Given the description of an element on the screen output the (x, y) to click on. 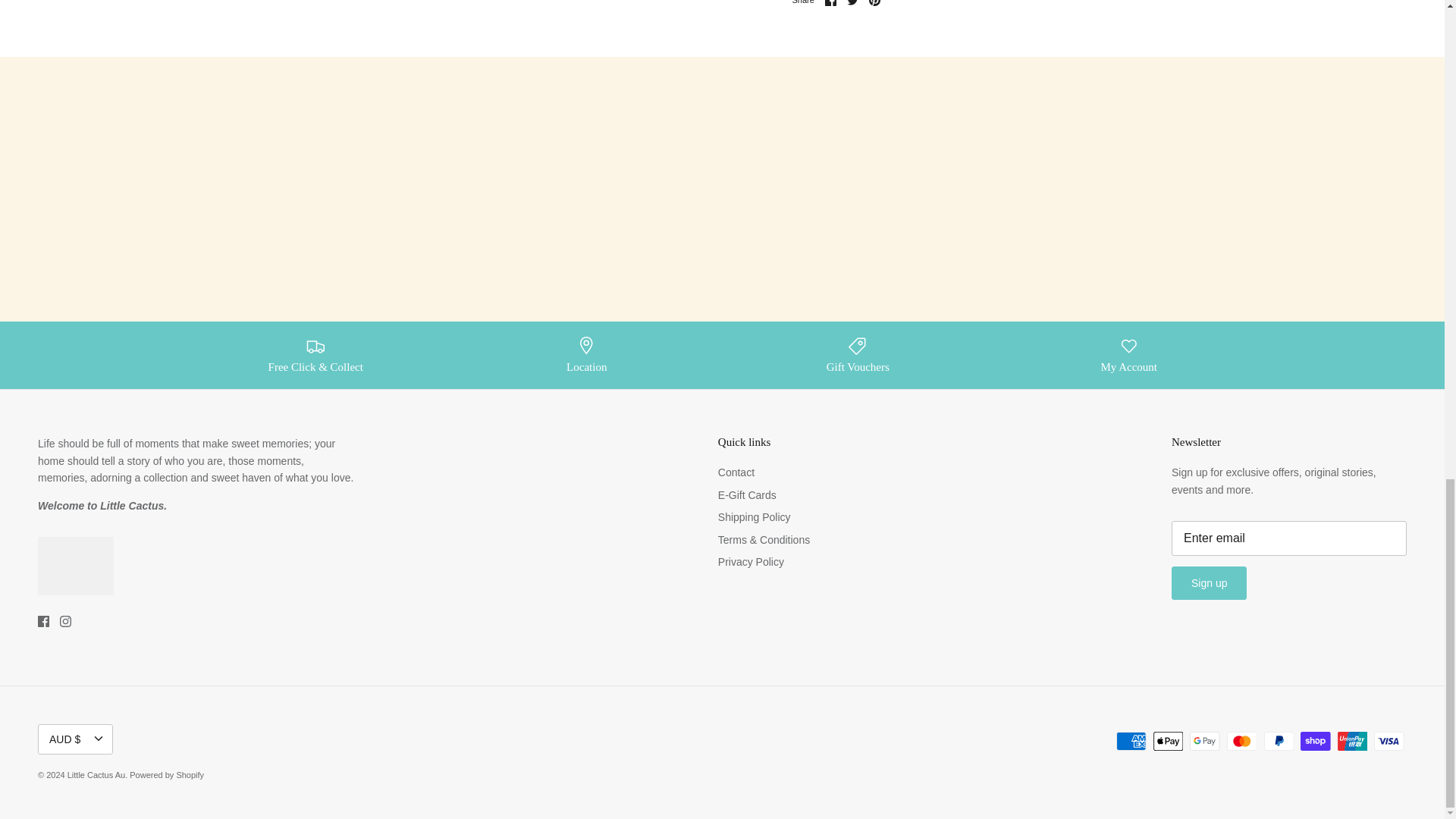
Twitter (853, 2)
Facebook (830, 2)
Facebook (43, 621)
Instagram (65, 621)
Pinterest (874, 2)
